Given the description of an element on the screen output the (x, y) to click on. 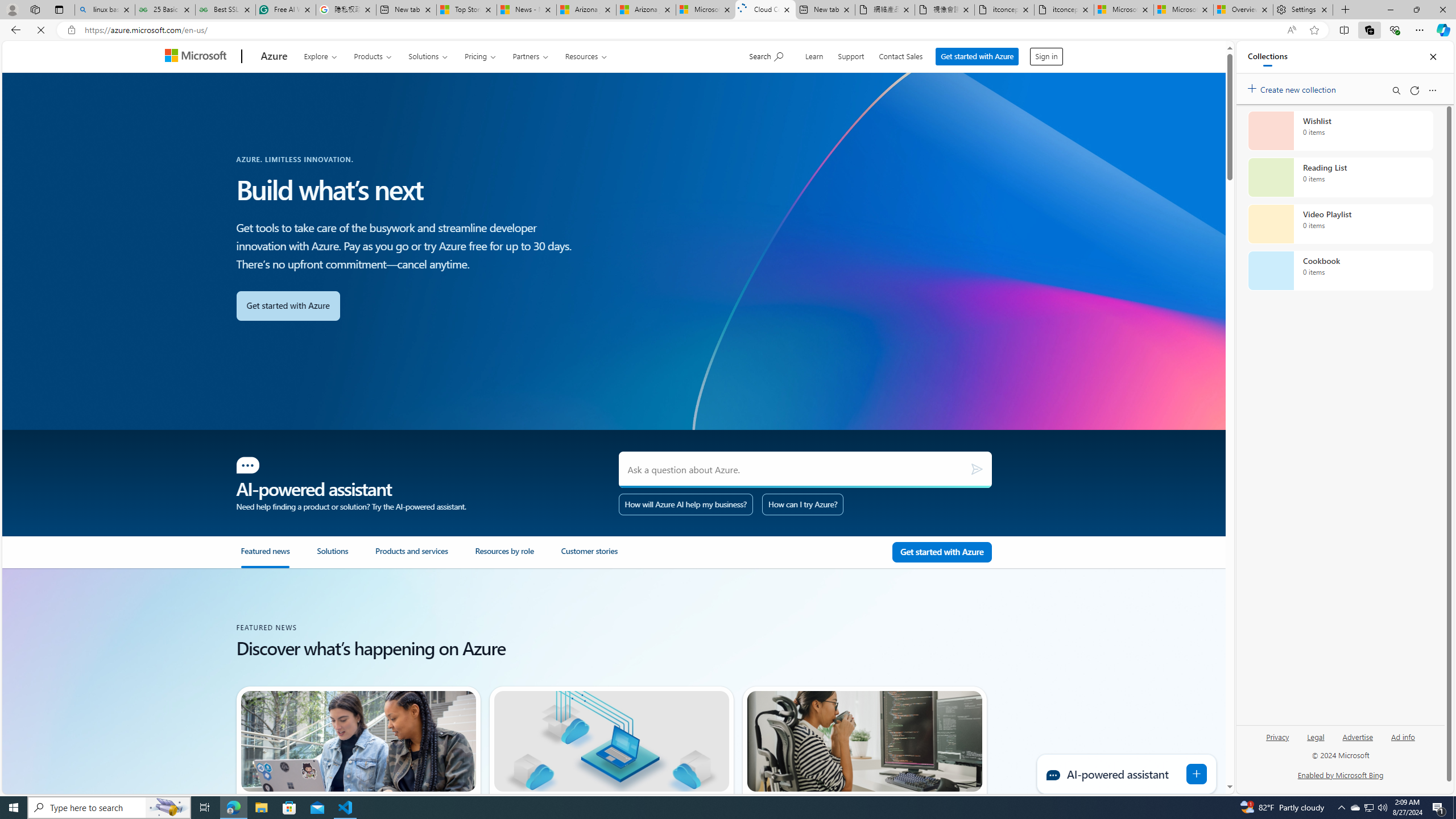
How can I try Azure? (802, 504)
Get started with Azure (978, 56)
News - MSN (527, 9)
AI-powered assistant floating badge icon (1196, 774)
Best SSL Certificates Provider in India - GeeksforGeeks (225, 9)
Learn (815, 54)
More options menu (1432, 90)
Azure (274, 56)
Enhance video (1291, 29)
